Given the description of an element on the screen output the (x, y) to click on. 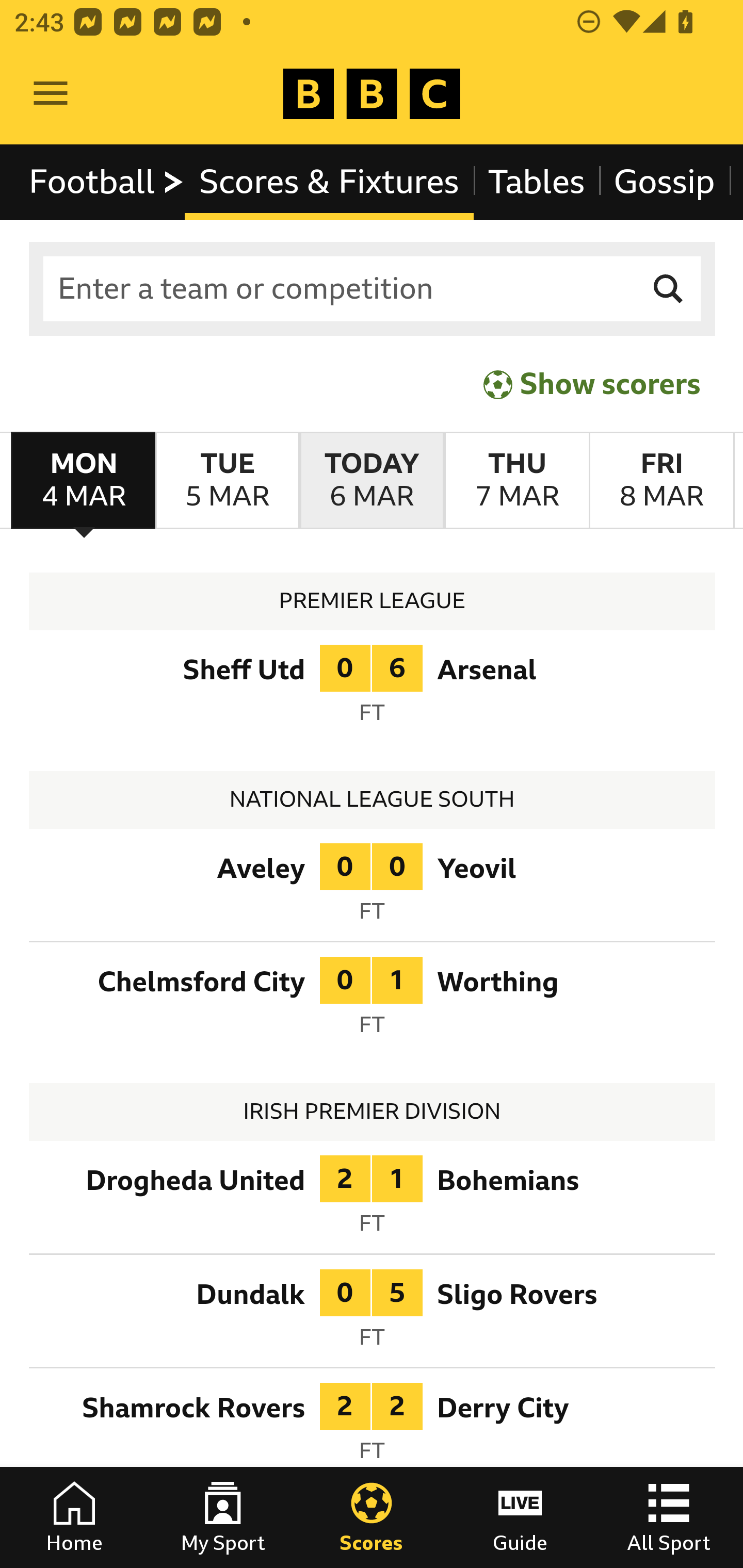
Open Menu (50, 93)
Football  (106, 181)
Scores & Fixtures (329, 181)
Tables (536, 181)
Gossip (664, 181)
Search (669, 289)
Show scorers (591, 383)
TuesdayMarch 5th Tuesday March 5th (227, 480)
TodayMarch 6th Today March 6th (371, 480)
ThursdayMarch 7th Thursday March 7th (516, 480)
FridayMarch 8th Friday March 8th (661, 480)
68399653 Sheffield United 0 Arsenal 6 Full Time (372, 689)
Home (74, 1517)
My Sport (222, 1517)
Guide (519, 1517)
All Sport (668, 1517)
